Given the description of an element on the screen output the (x, y) to click on. 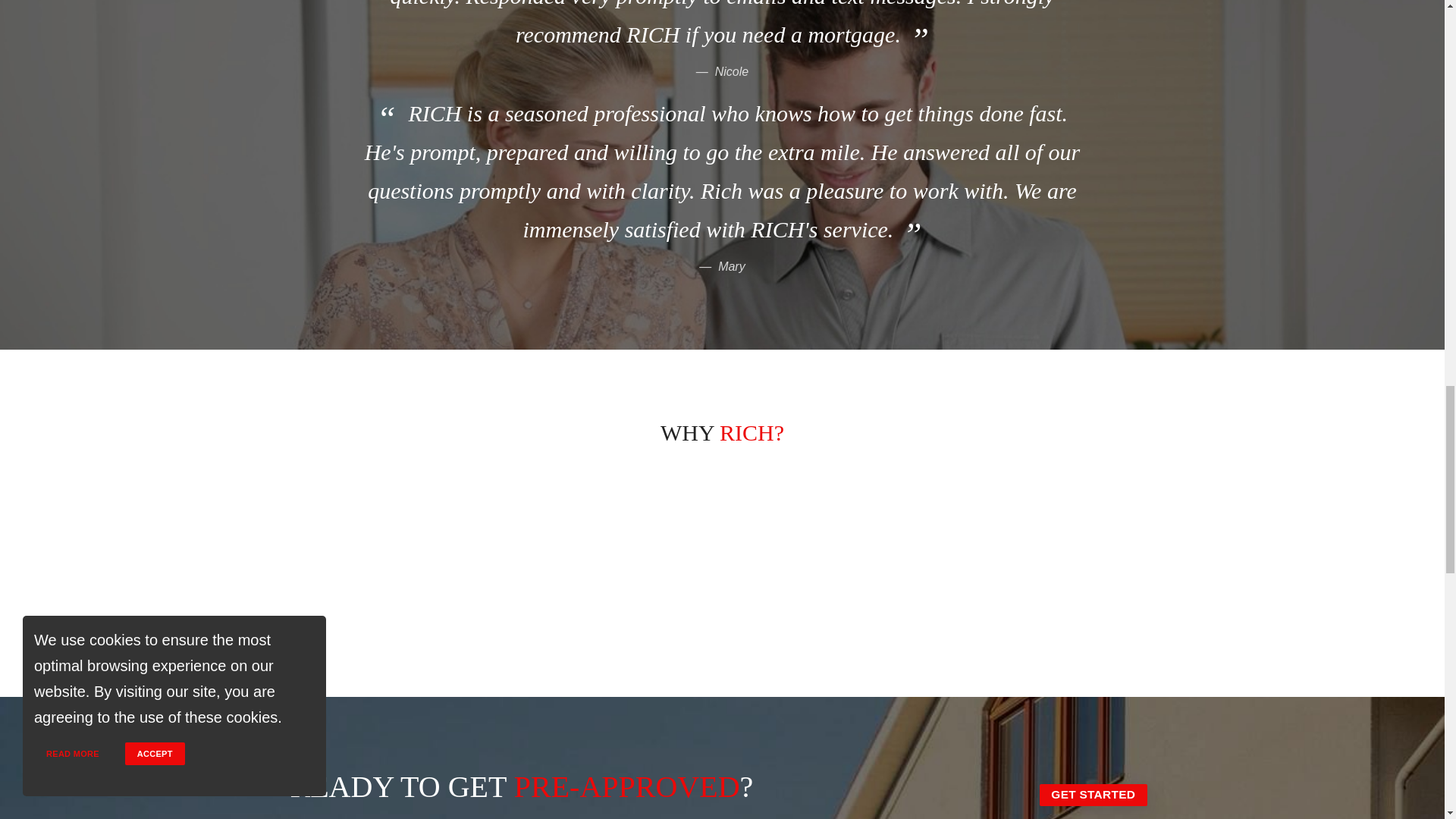
Source Title (731, 266)
GET STARTED (1093, 794)
Source Title (731, 71)
